Given the description of an element on the screen output the (x, y) to click on. 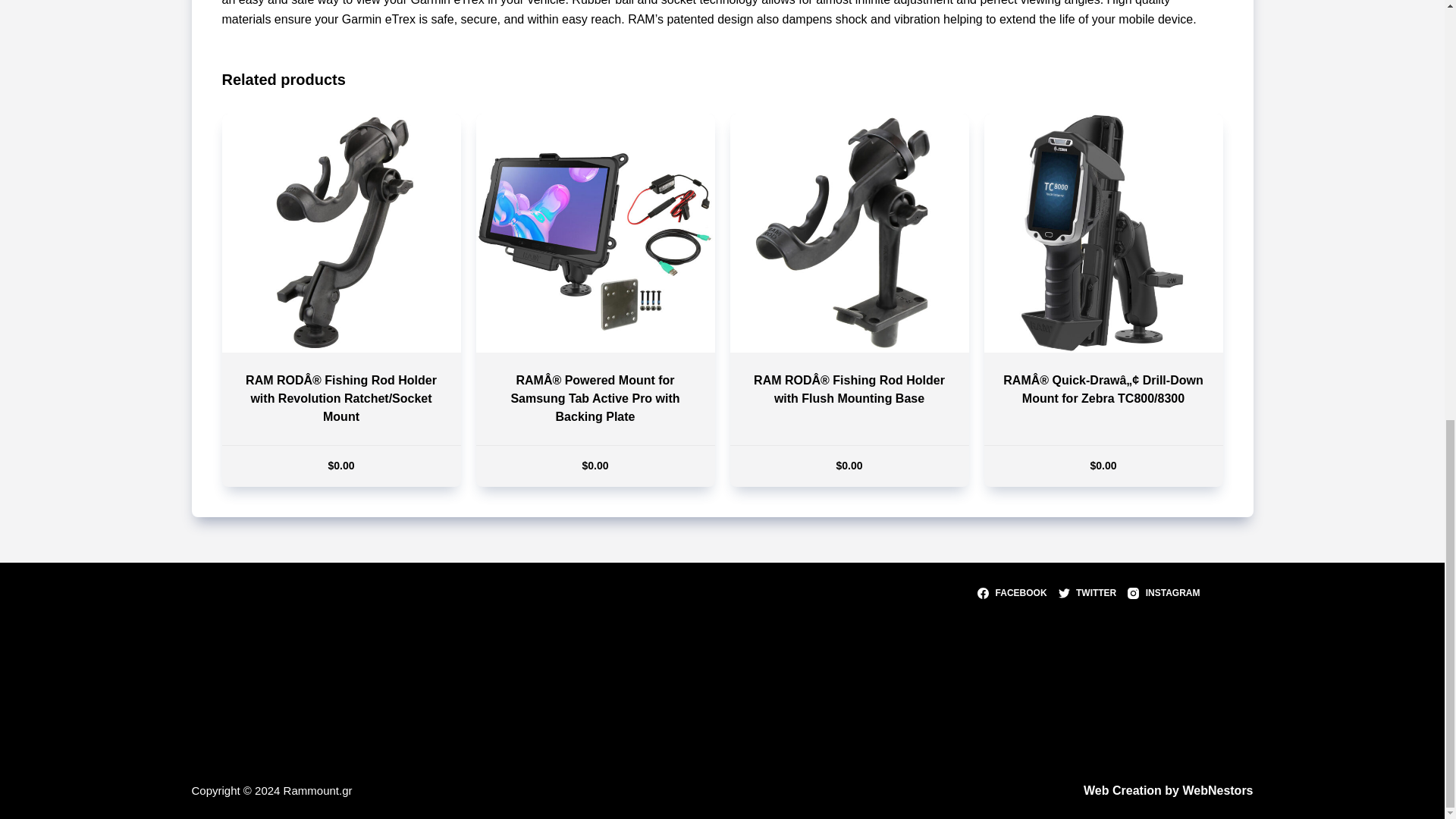
RAM-114-RBU (340, 232)
RAM-114-FU (848, 232)
RAM-101-B-SAM52P-V7B1U (595, 232)
RAM-101-ZE9U (1103, 232)
